Given the description of an element on the screen output the (x, y) to click on. 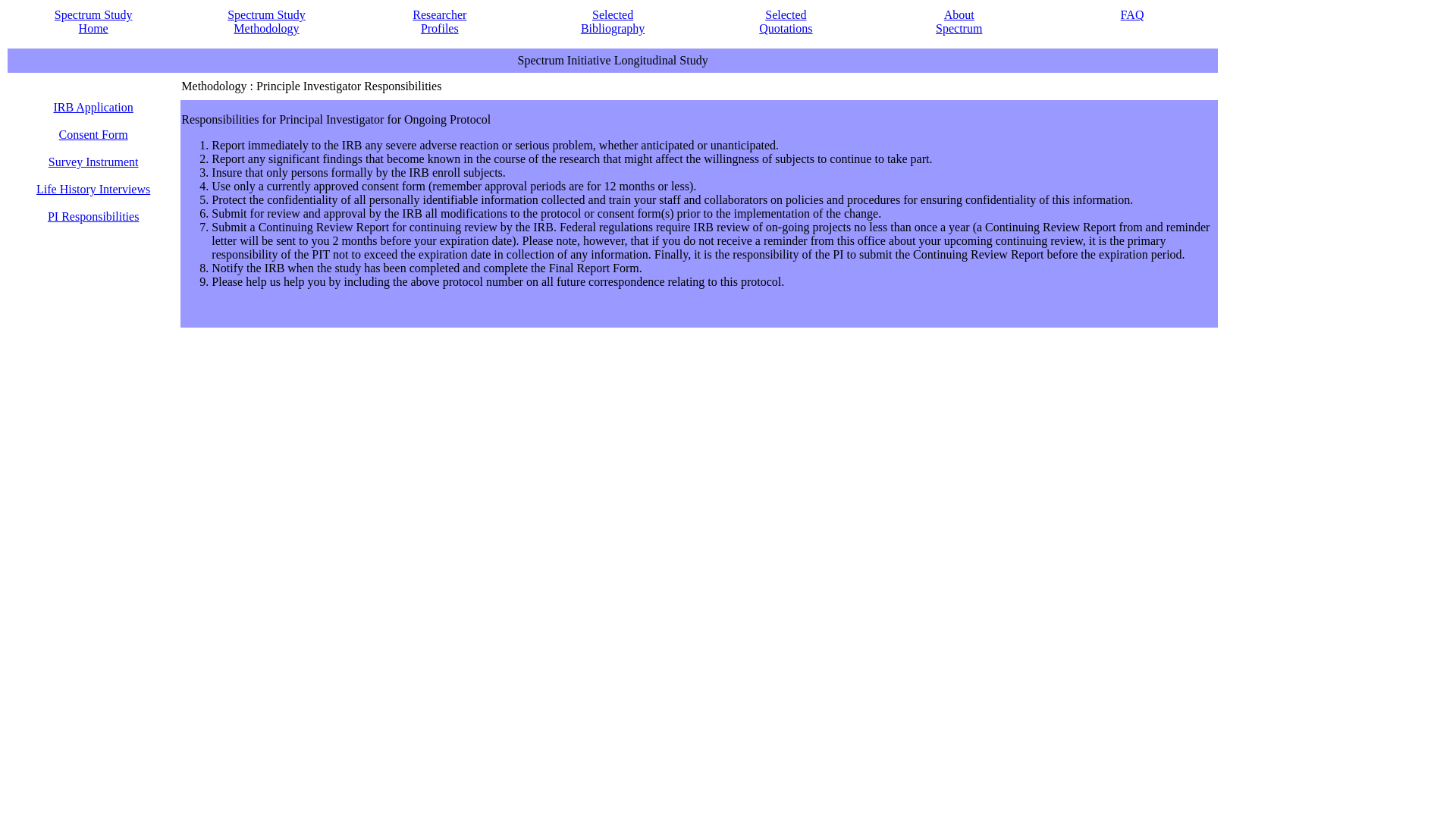
Life History Interviews (612, 21)
Survey Instrument (785, 21)
PI Responsibilities (958, 21)
IRB Application (92, 195)
Consent Form (93, 161)
FAQ (93, 215)
